Given the description of an element on the screen output the (x, y) to click on. 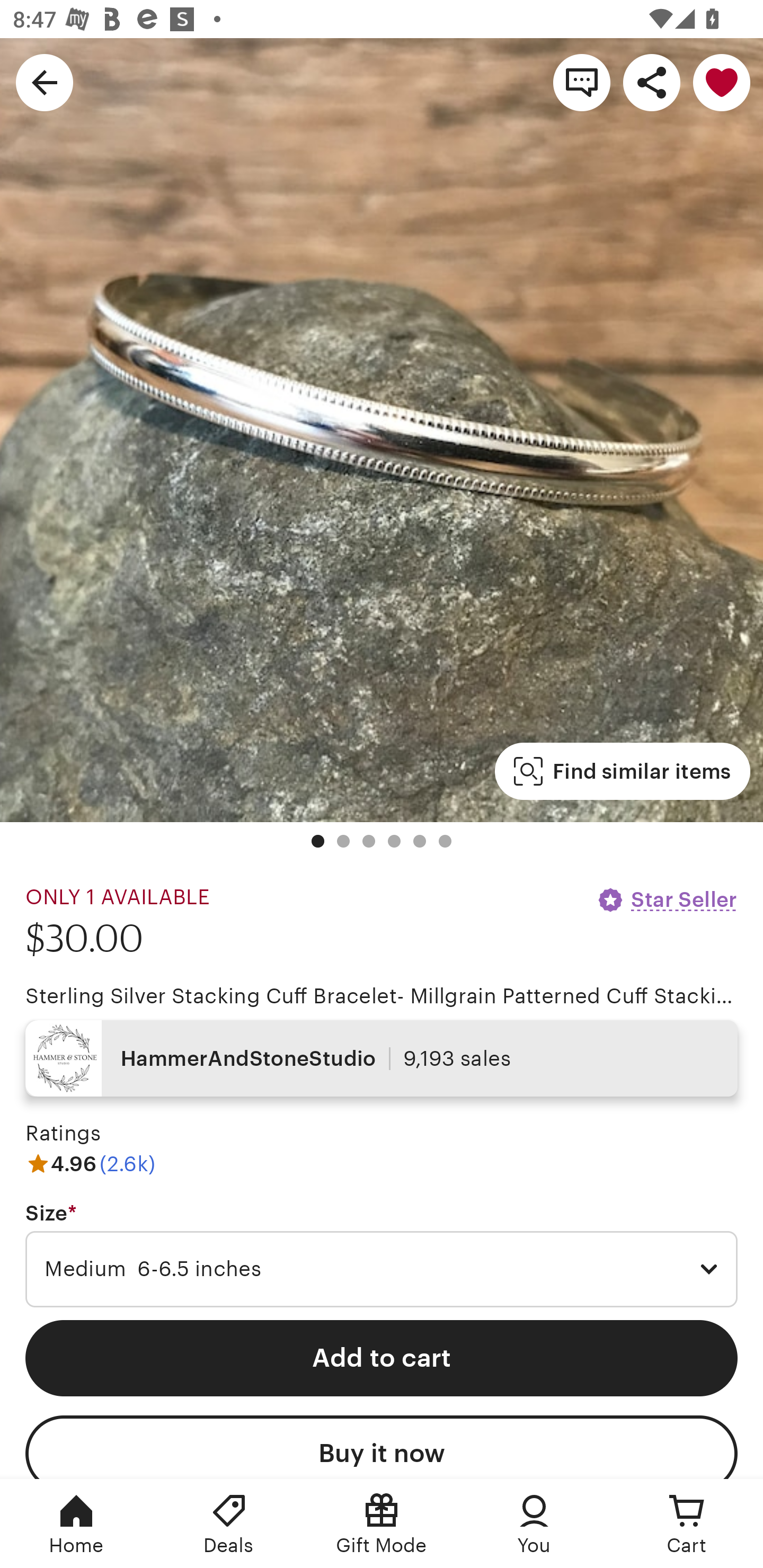
Navigate up (44, 81)
Contact shop (581, 81)
Share (651, 81)
Find similar items (622, 771)
Star Seller (666, 899)
HammerAndStoneStudio 9,193 sales (381, 1058)
Ratings (62, 1133)
4.96 (2.6k) (90, 1163)
Size * Required Medium  6-6.5 inches (381, 1254)
Medium  6-6.5 inches (381, 1268)
Add to cart (381, 1358)
Buy it now (381, 1446)
Deals (228, 1523)
Gift Mode (381, 1523)
You (533, 1523)
Cart (686, 1523)
